Given the description of an element on the screen output the (x, y) to click on. 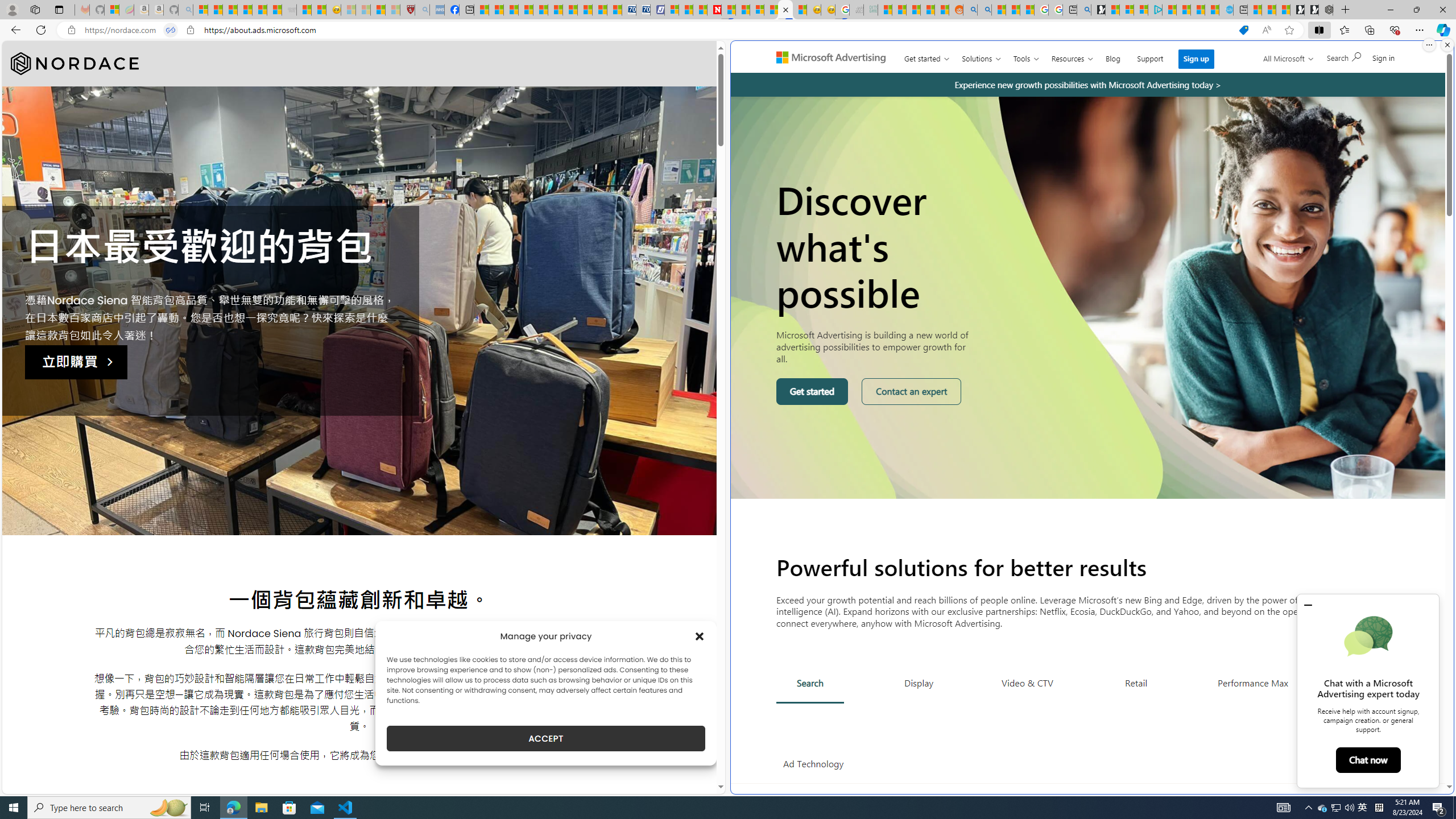
Get the Copilot app  (1363, 62)
Blog (1112, 56)
No, thanks (1277, 62)
